Given the description of an element on the screen output the (x, y) to click on. 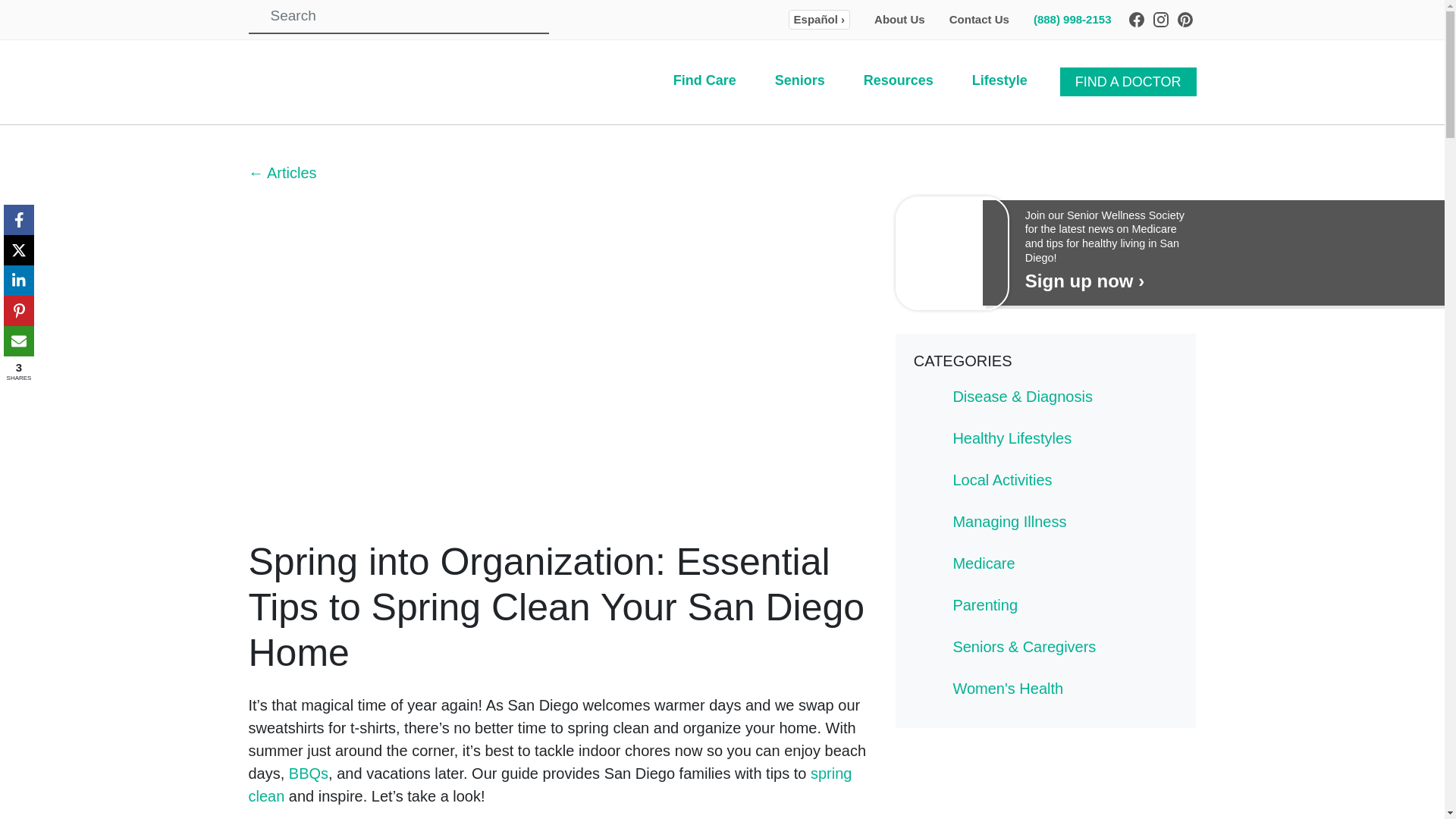
Find Care (704, 80)
About Us (899, 19)
Resources (898, 80)
Seniors (799, 80)
Lifestyle (999, 80)
spring clean (549, 784)
BBQs (308, 773)
FIND A DOCTOR (1127, 81)
Contact Us (979, 19)
